Given the description of an element on the screen output the (x, y) to click on. 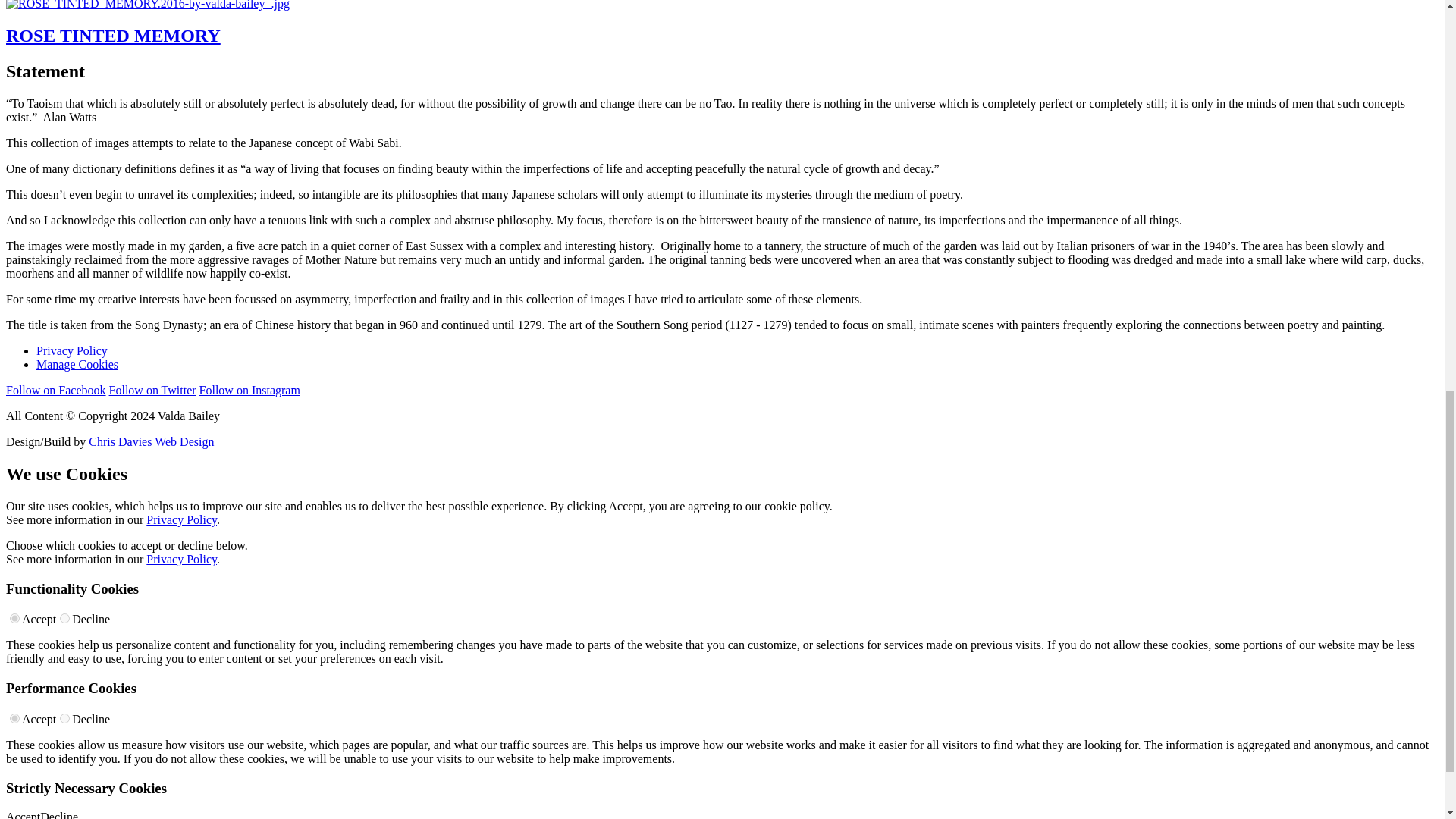
Follow on Twitter (152, 390)
Chris Davies Web Design (151, 440)
Follow on Instagram (249, 390)
n (64, 718)
n (64, 618)
y (15, 618)
Privacy Policy (181, 558)
Privacy Policy (71, 350)
Privacy Policy (181, 519)
Manage Cookies (76, 364)
Follow on Facebook (55, 390)
y (15, 718)
